Given the description of an element on the screen output the (x, y) to click on. 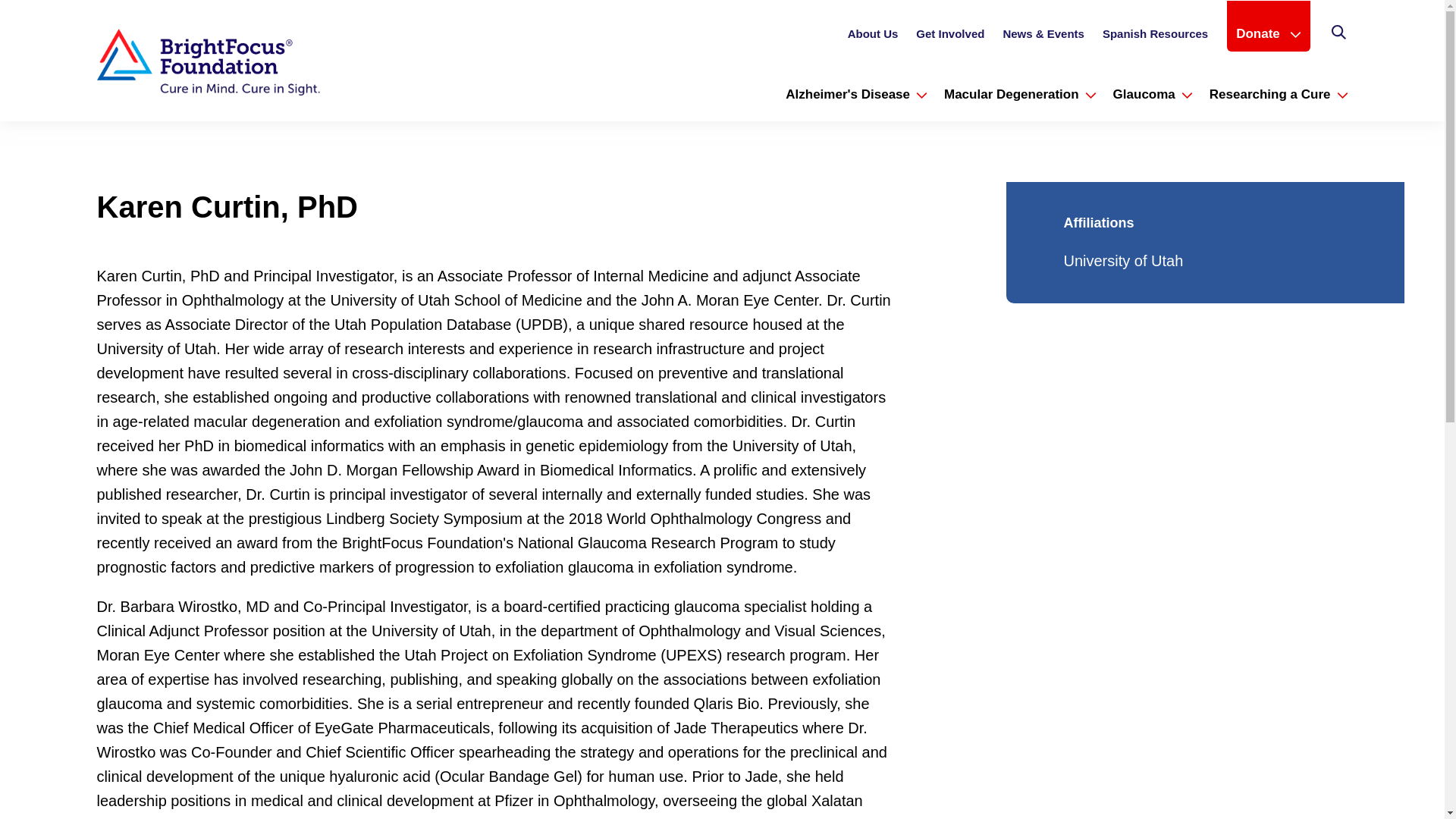
Search (1337, 34)
About Us (872, 37)
Search (1339, 32)
Get Involved (949, 37)
Donate (1267, 33)
Spanish Resources (1155, 37)
